Given the description of an element on the screen output the (x, y) to click on. 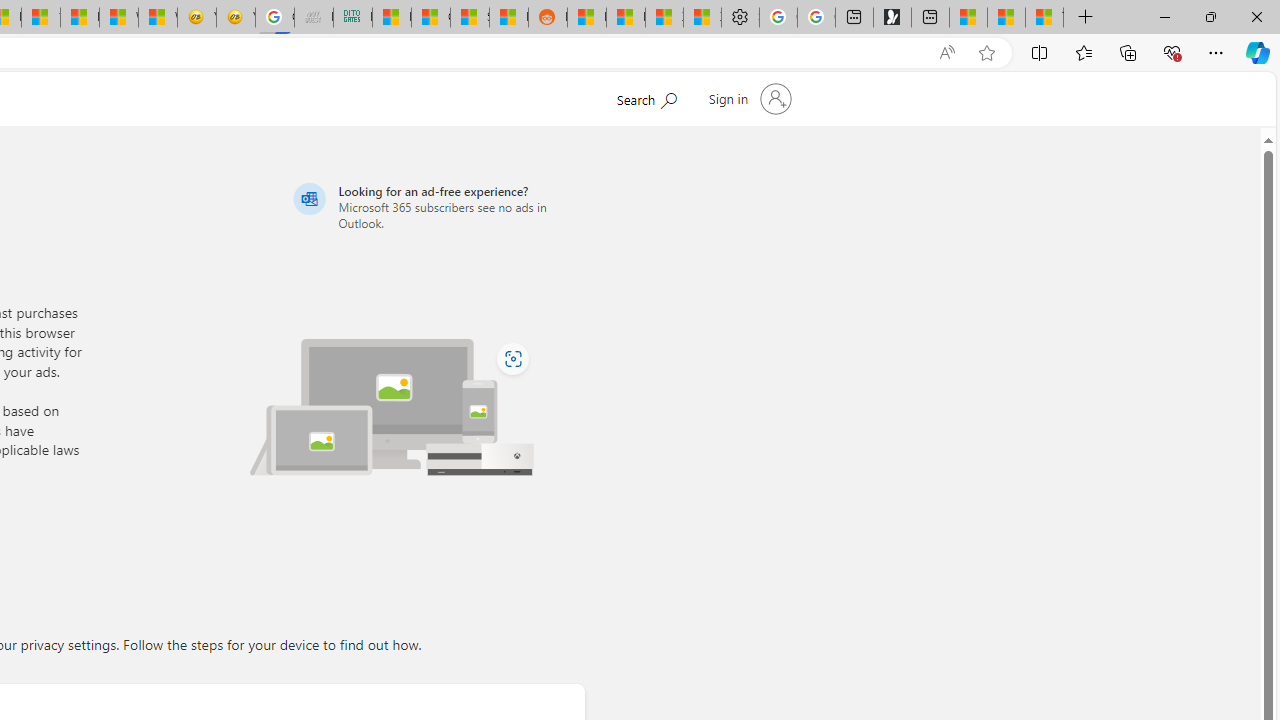
Fitness - MSN (79, 17)
Search Microsoft.com (684, 97)
These 3 Stocks Pay You More Than 5% to Own Them (1044, 17)
